Given the description of an element on the screen output the (x, y) to click on. 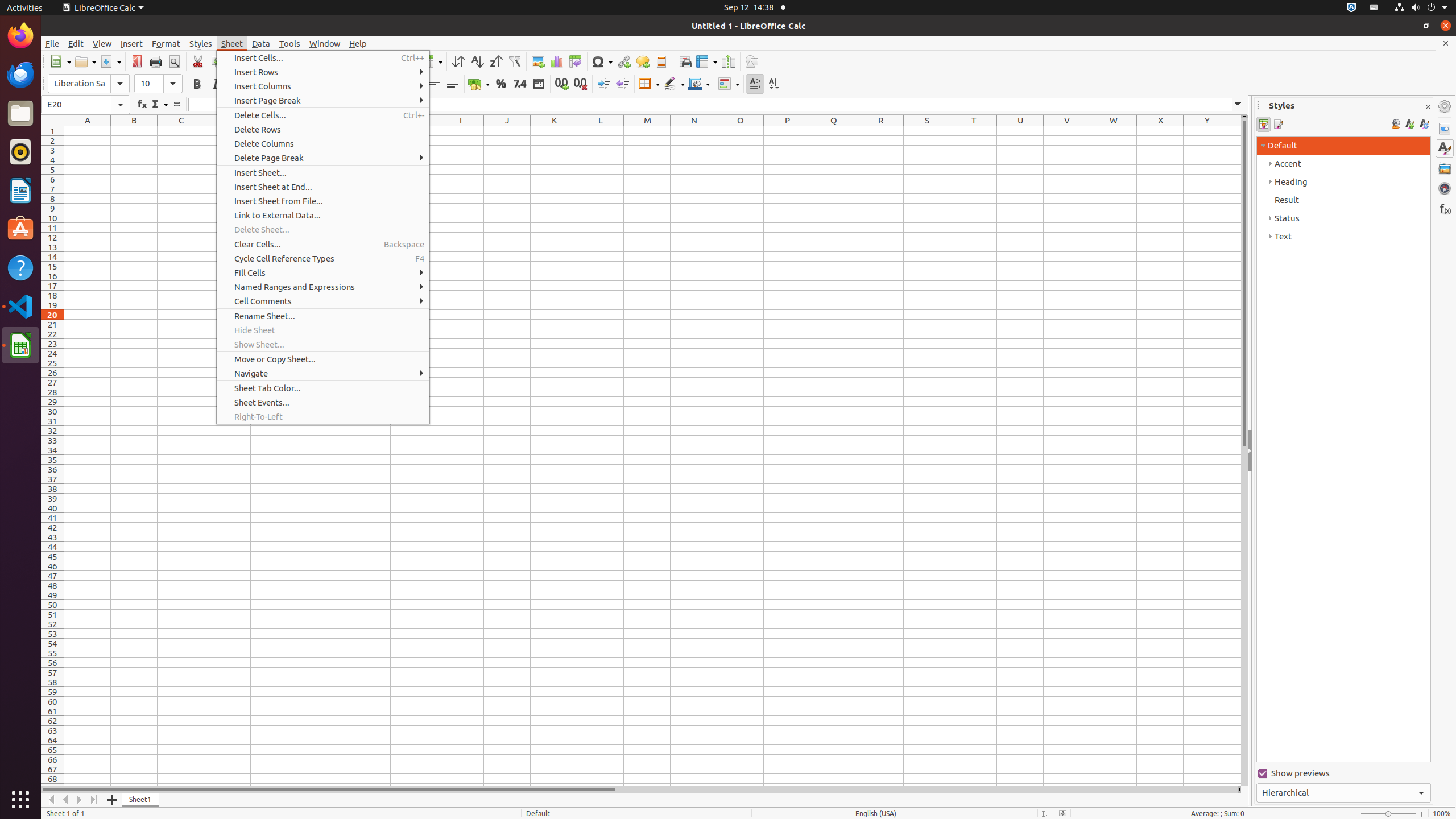
Format Element type: menu (165, 43)
New Style from Selection Element type: push-button (1409, 123)
B1 Element type: table-cell (133, 130)
Expand Formula Bar Element type: push-button (1237, 104)
Window Element type: menu (324, 43)
